Given the description of an element on the screen output the (x, y) to click on. 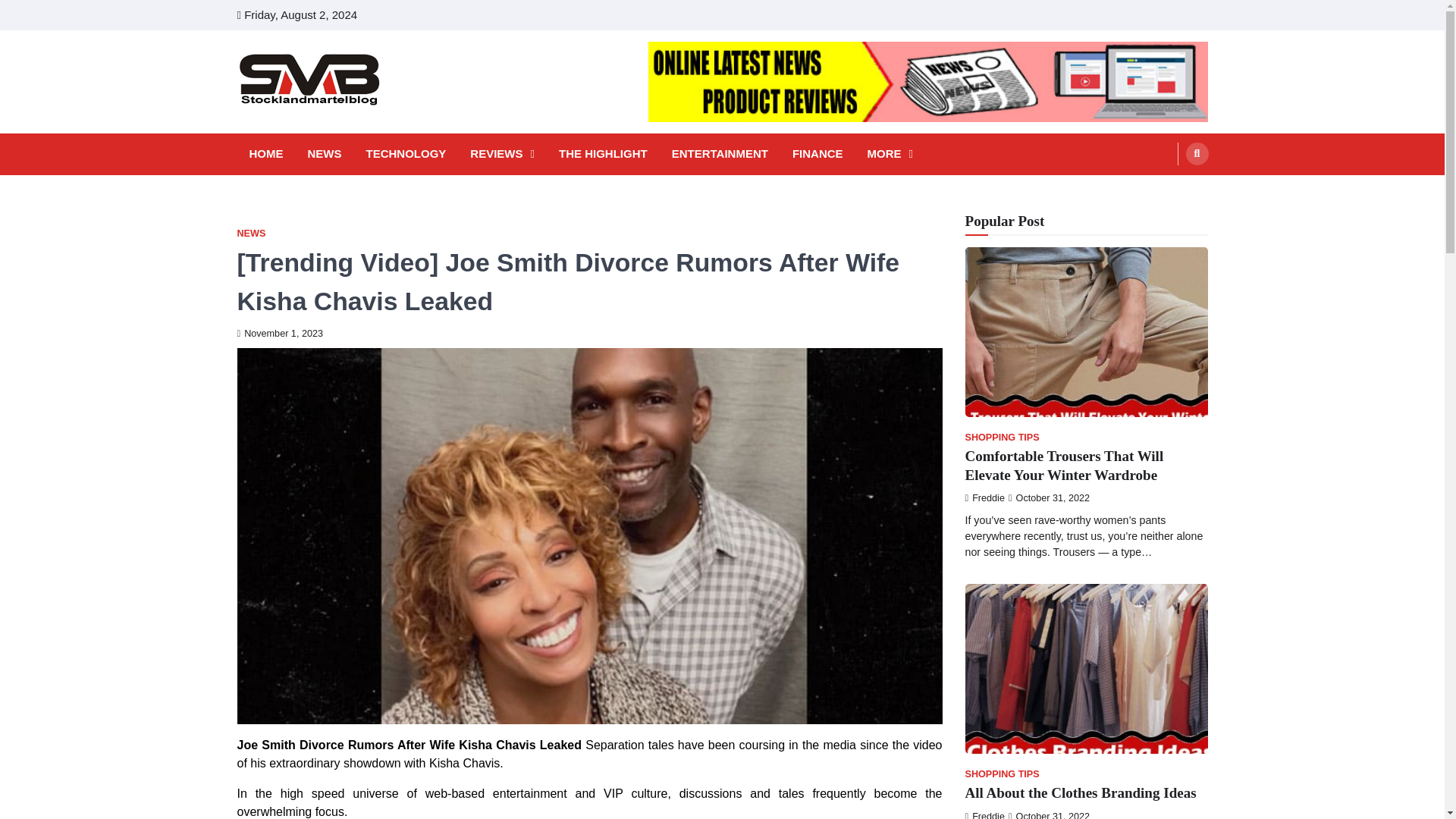
Search (1168, 189)
Search (1197, 153)
HOME (265, 153)
NEWS (249, 233)
November 1, 2023 (279, 333)
MORE (889, 153)
ENTERTAINMENT (719, 153)
THE HIGHLIGHT (603, 153)
SHOPPING TIPS (1001, 437)
FINANCE (817, 153)
